Given the description of an element on the screen output the (x, y) to click on. 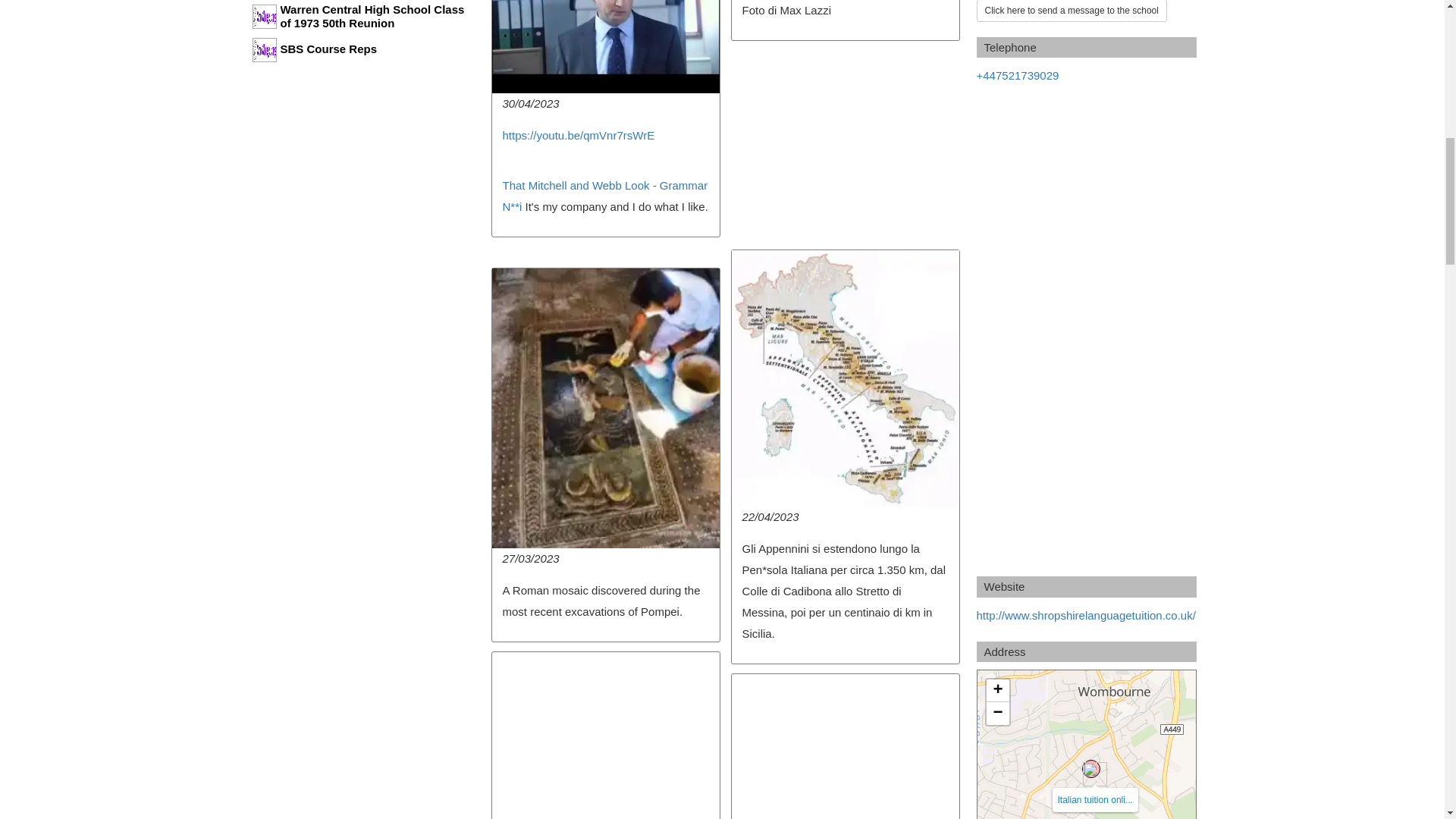
SBS Course Reps (358, 52)
Click here to send a message to the school (1071, 11)
Zoom out (997, 712)
Zoom in (997, 690)
3rd party ad content (844, 144)
Warren Central High School Class of 1973 50th Reunion (358, 17)
Italian tuition onli... (1090, 769)
Italian tuition onli... (1094, 799)
